Given the description of an element on the screen output the (x, y) to click on. 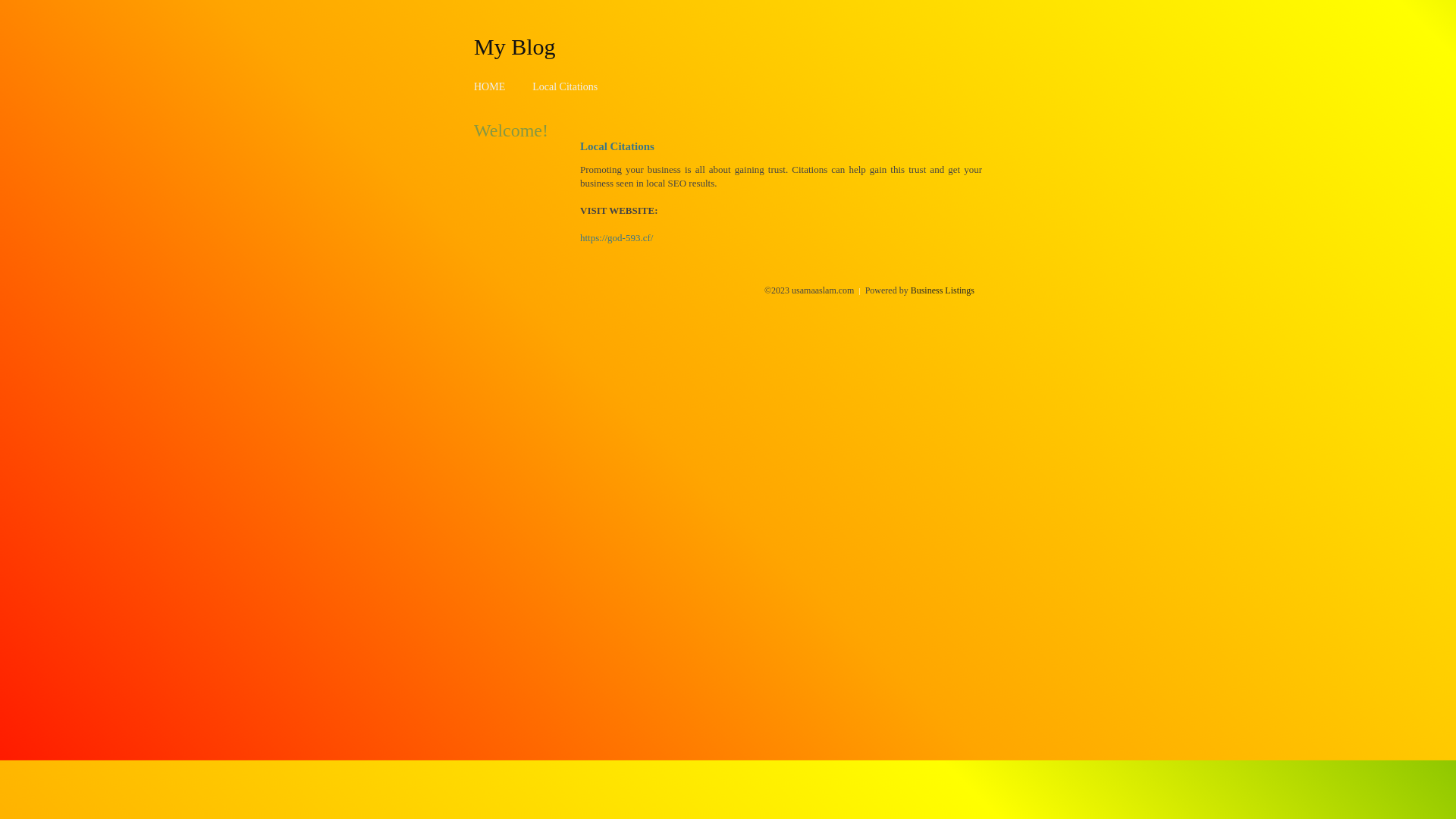
Local Citations Element type: text (564, 86)
https://god-593.cf/ Element type: text (616, 237)
Business Listings Element type: text (942, 290)
My Blog Element type: text (514, 46)
HOME Element type: text (489, 86)
